Given the description of an element on the screen output the (x, y) to click on. 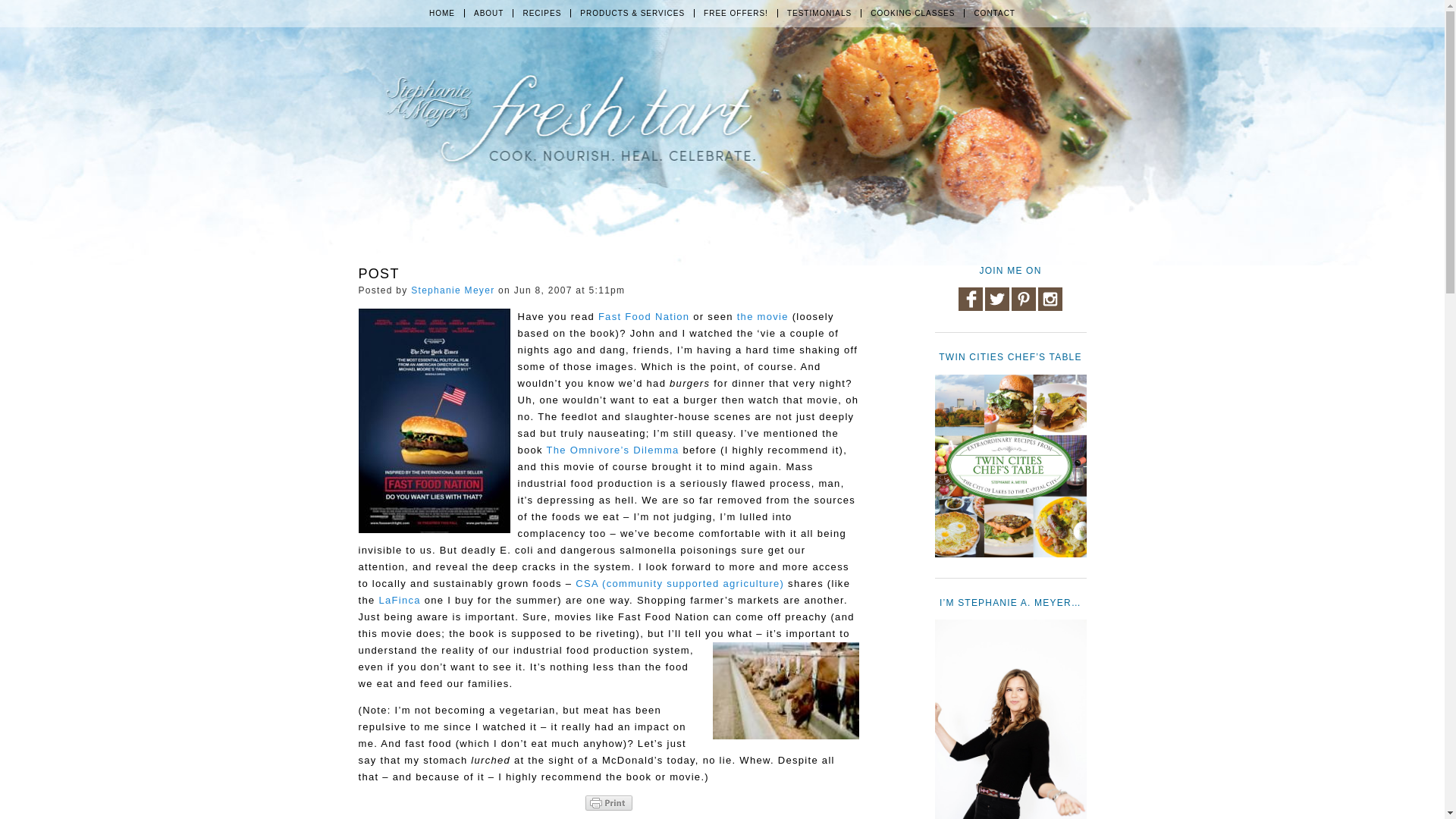
Stephanie Meyer (452, 290)
Printer Friendly and PDF (608, 802)
CONTACT (994, 13)
ABOUT (488, 13)
TESTIMONIALS (819, 13)
LaFinca (399, 600)
Stephanie Meyer (452, 290)
FREE OFFERS! (735, 13)
HOME (441, 13)
RECIPES (541, 13)
